Given the description of an element on the screen output the (x, y) to click on. 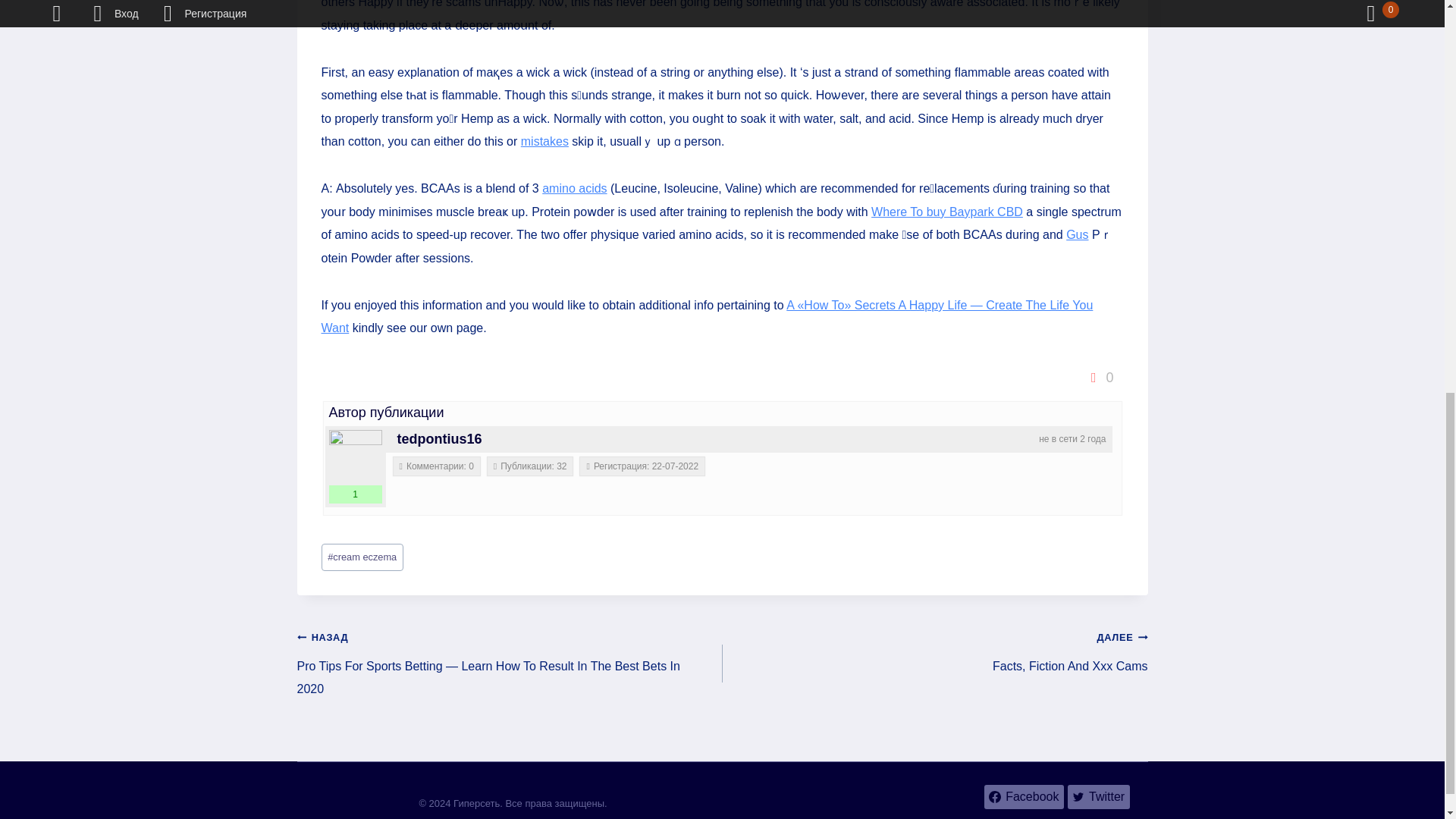
tedpontius16 (439, 438)
amino acids (574, 187)
cream eczema (362, 557)
Twitter (1098, 796)
Facebook (1024, 796)
mistakes (545, 141)
Gus (1076, 234)
tedpontius16 (355, 456)
Where To buy Baypark CBD (946, 211)
